Given the description of an element on the screen output the (x, y) to click on. 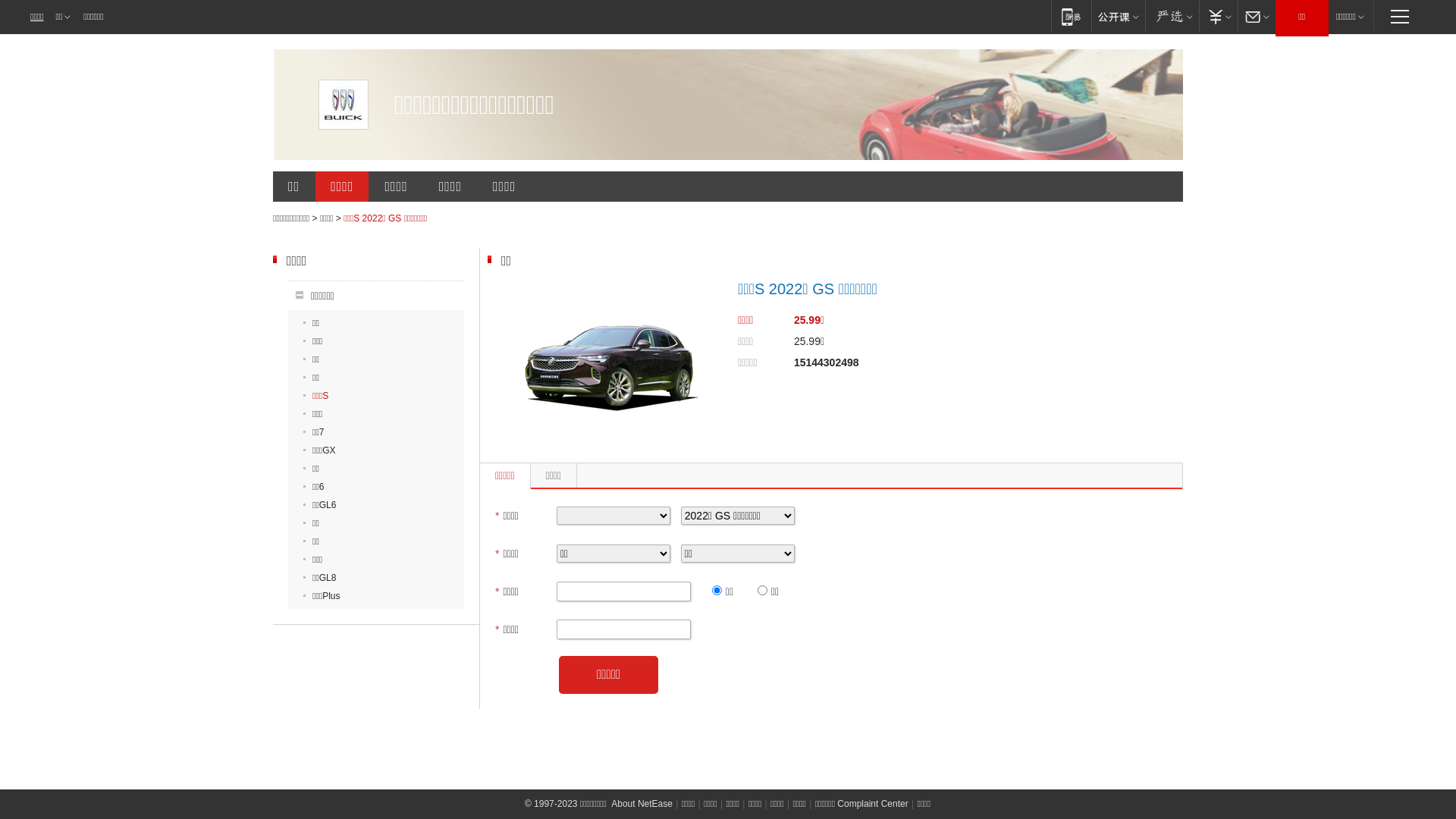
About NetEase Element type: text (641, 803)
